Given the description of an element on the screen output the (x, y) to click on. 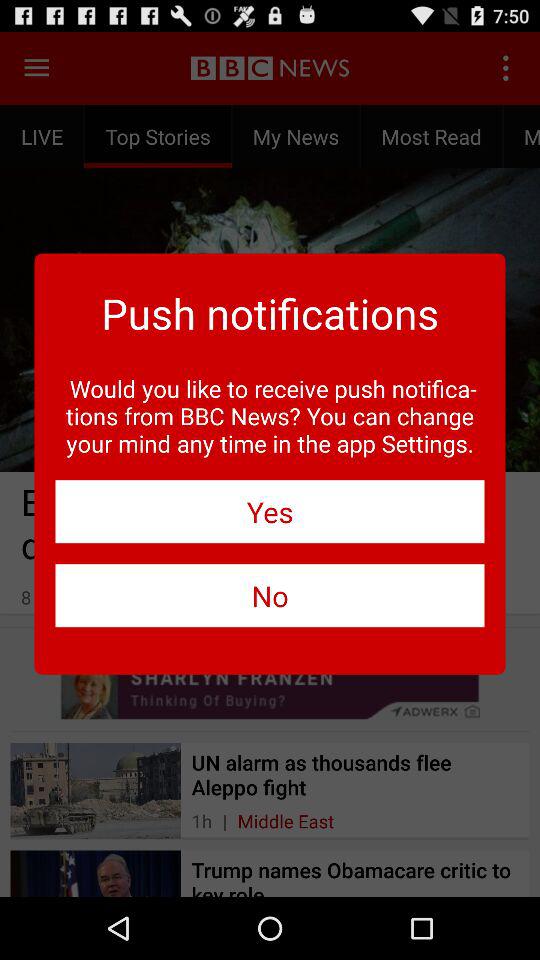
flip until no item (269, 595)
